Given the description of an element on the screen output the (x, y) to click on. 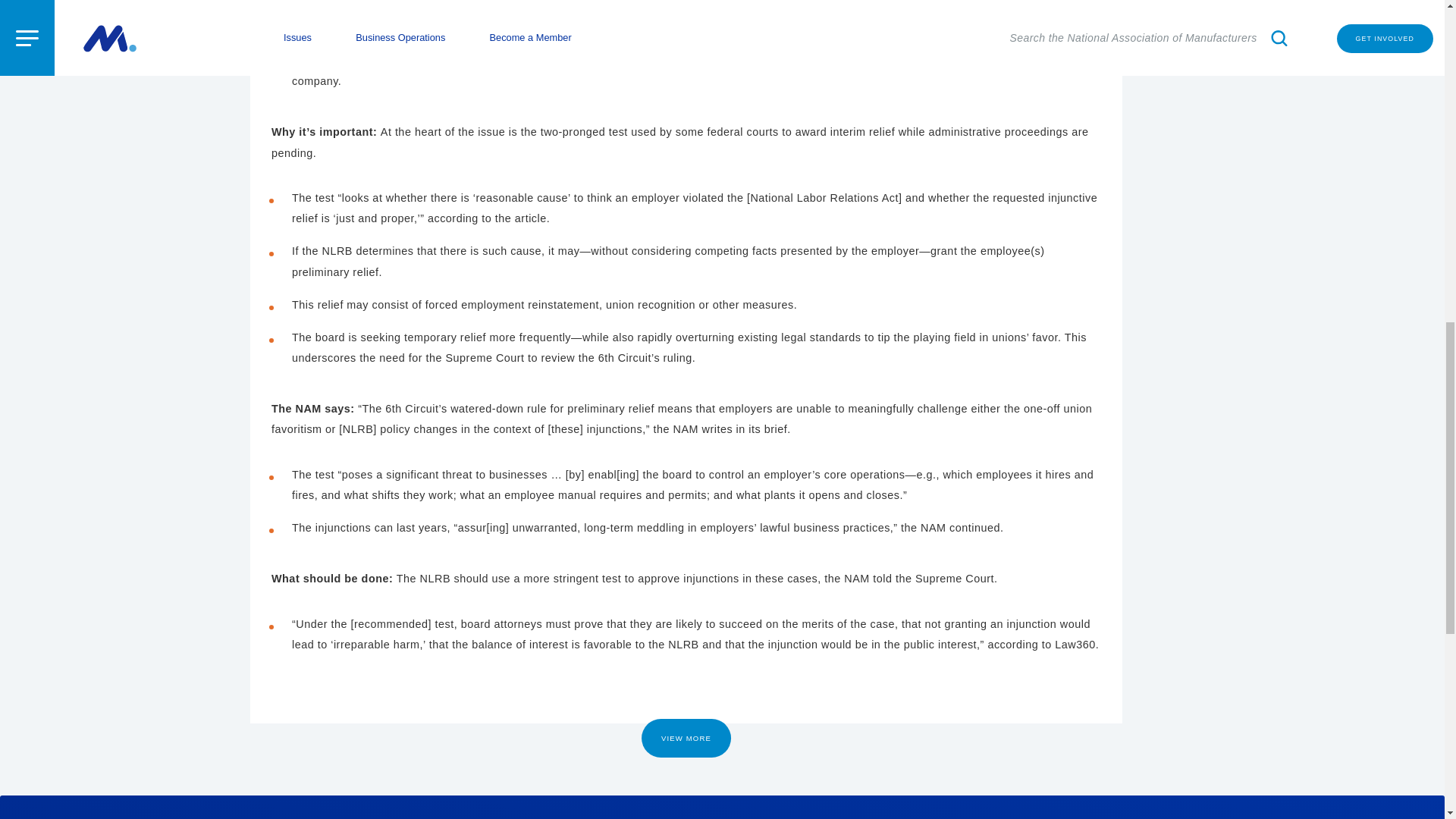
Law360 (896, 15)
VIEW MORE (686, 738)
